Given the description of an element on the screen output the (x, y) to click on. 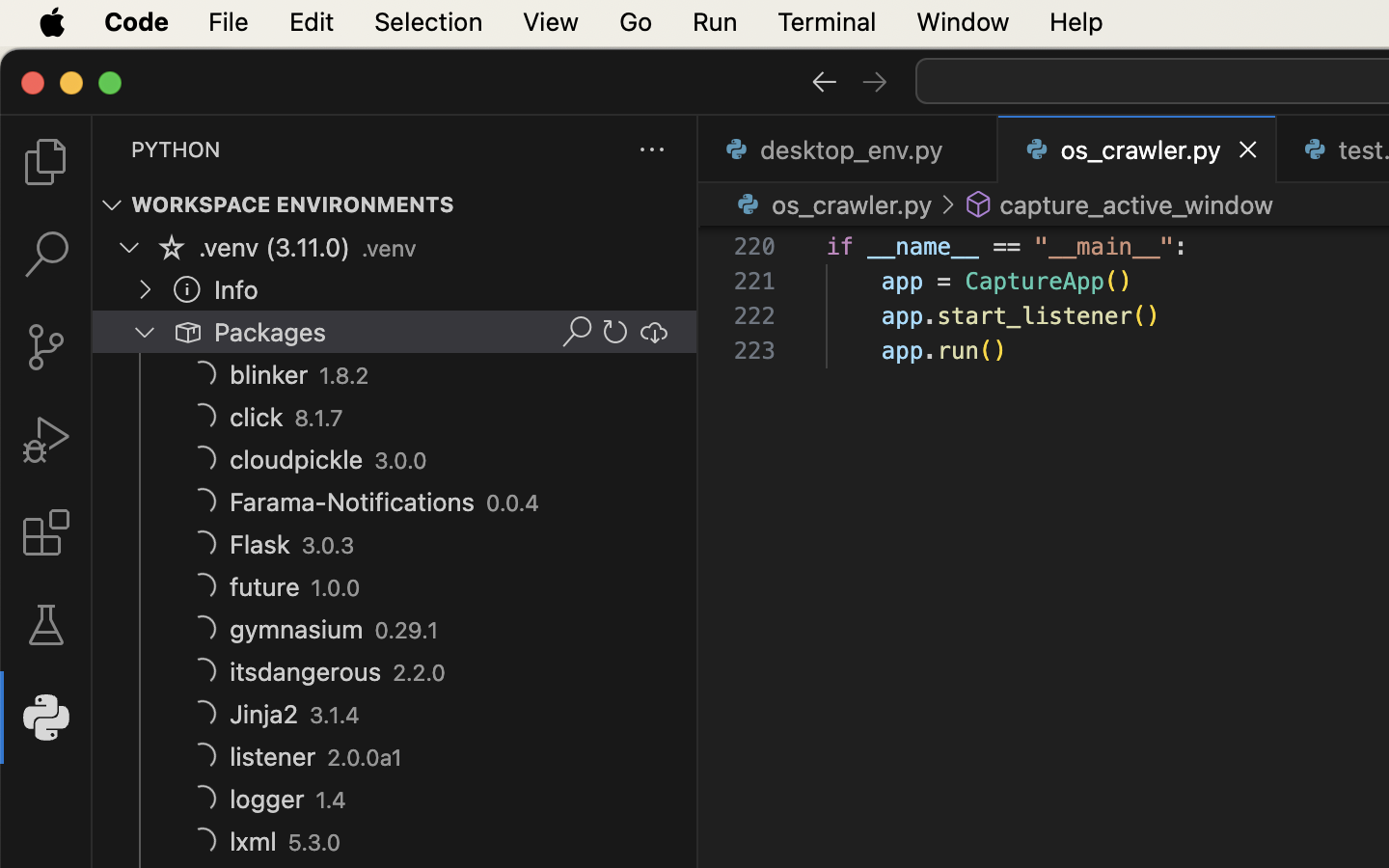
future Element type: AXStaticText (264, 586)
1.8.2 Element type: AXStaticText (345, 375)
PYTHON Element type: AXStaticText (176, 149)
 Element type: AXButton (874, 80)
 Element type: AXButton (576, 331)
